Given the description of an element on the screen output the (x, y) to click on. 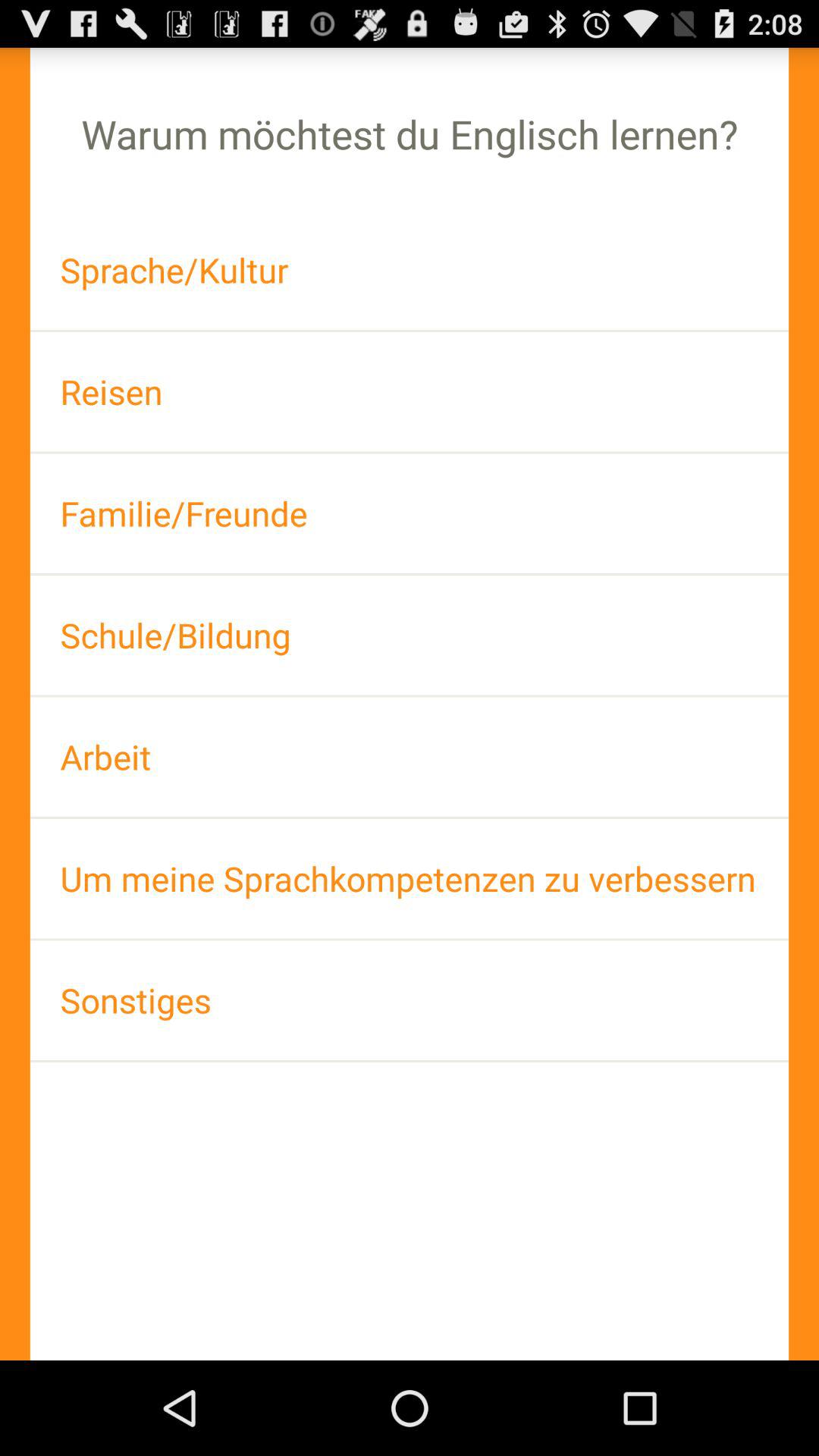
flip to familie/freunde app (409, 513)
